Given the description of an element on the screen output the (x, y) to click on. 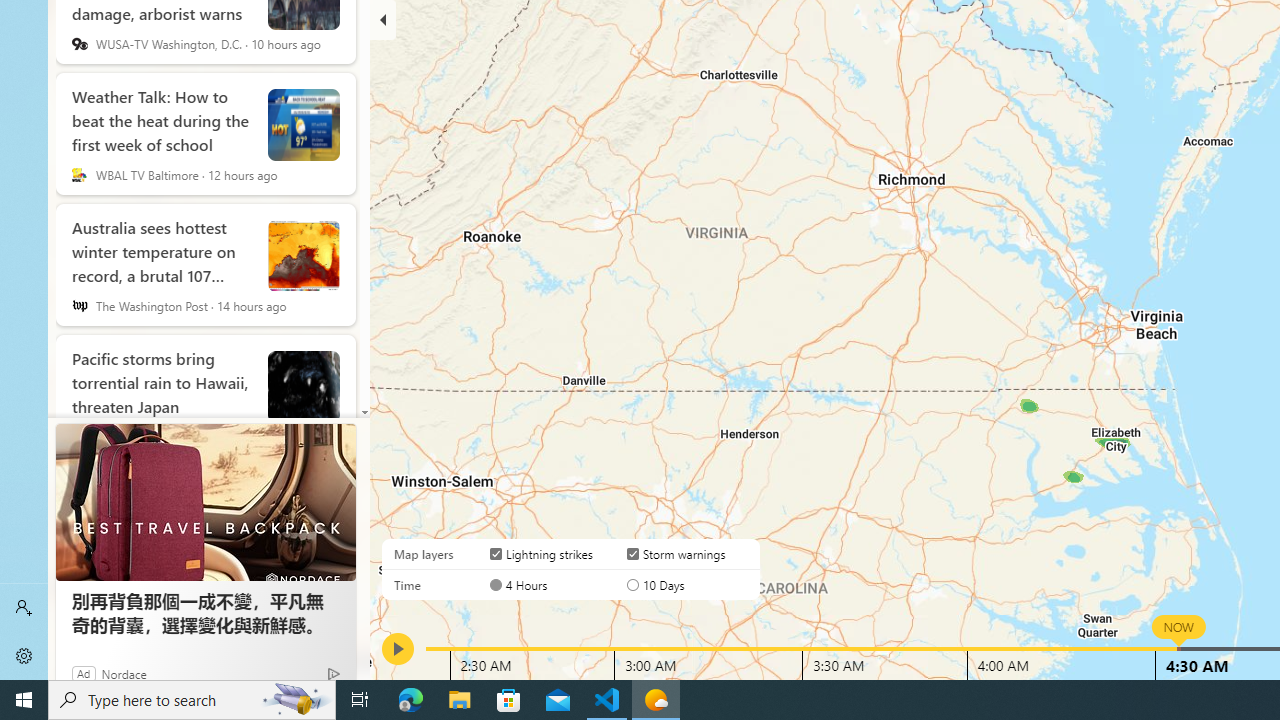
Search highlights icon opens search home window (295, 699)
Sign in (24, 607)
Settings (24, 655)
File Explorer (460, 699)
Task View (359, 699)
Microsoft Store (509, 699)
Type here to search (191, 699)
Microsoft Edge (411, 699)
Start (24, 699)
Weather - 1 running window (656, 699)
Visual Studio Code - 1 running window (607, 699)
